Given the description of an element on the screen output the (x, y) to click on. 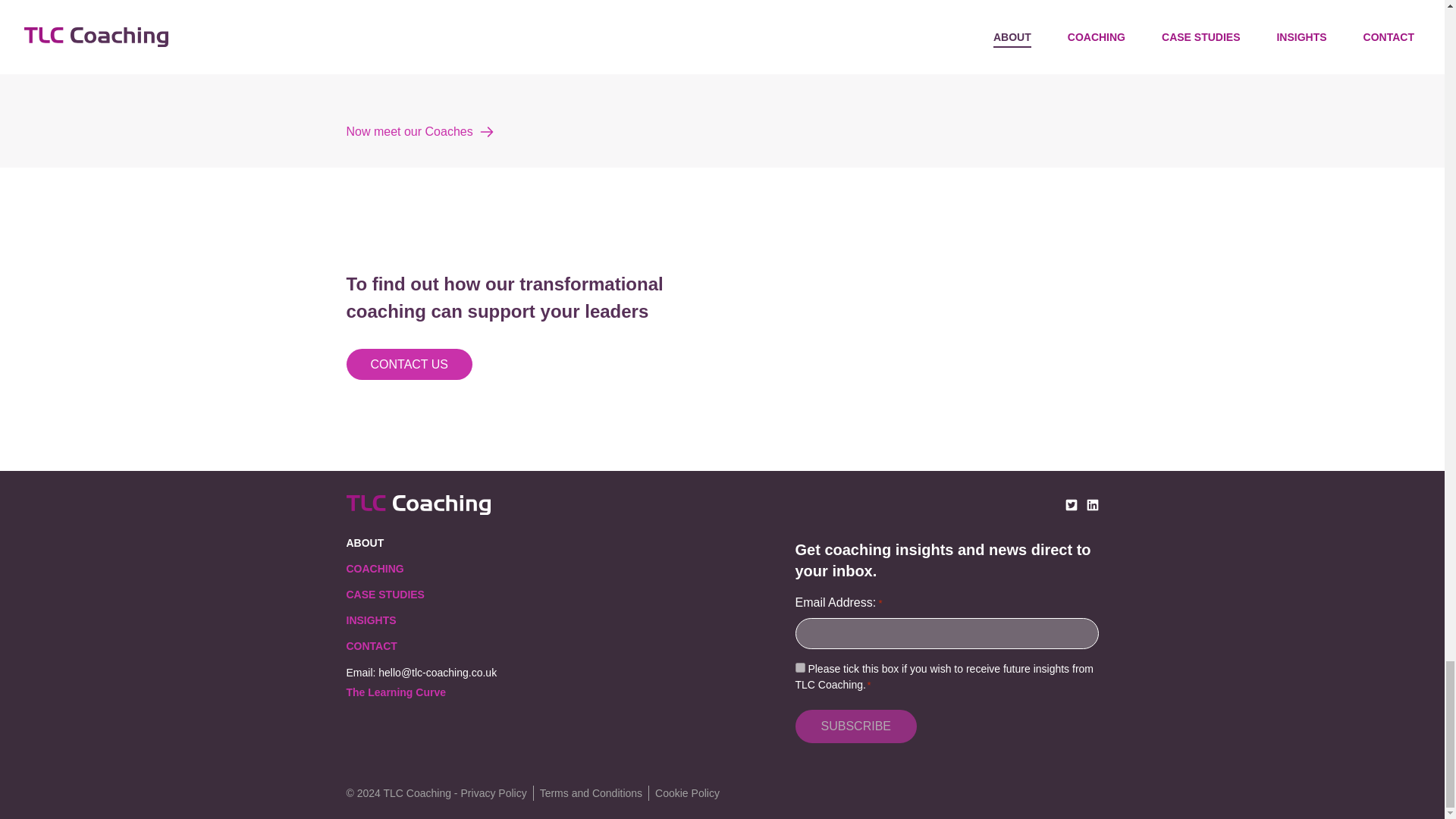
CONTACT (371, 645)
Now meet our Coaches (721, 131)
1 (799, 667)
Subscribe (854, 726)
INSIGHTS (371, 620)
CONTACT US (408, 364)
The Learning Curve (395, 692)
CASE STUDIES (384, 594)
Subscribe (854, 726)
Cookie Policy (687, 793)
ABOUT (365, 542)
Privacy Policy (494, 793)
Terms and Conditions (591, 793)
COACHING (374, 568)
